Given the description of an element on the screen output the (x, y) to click on. 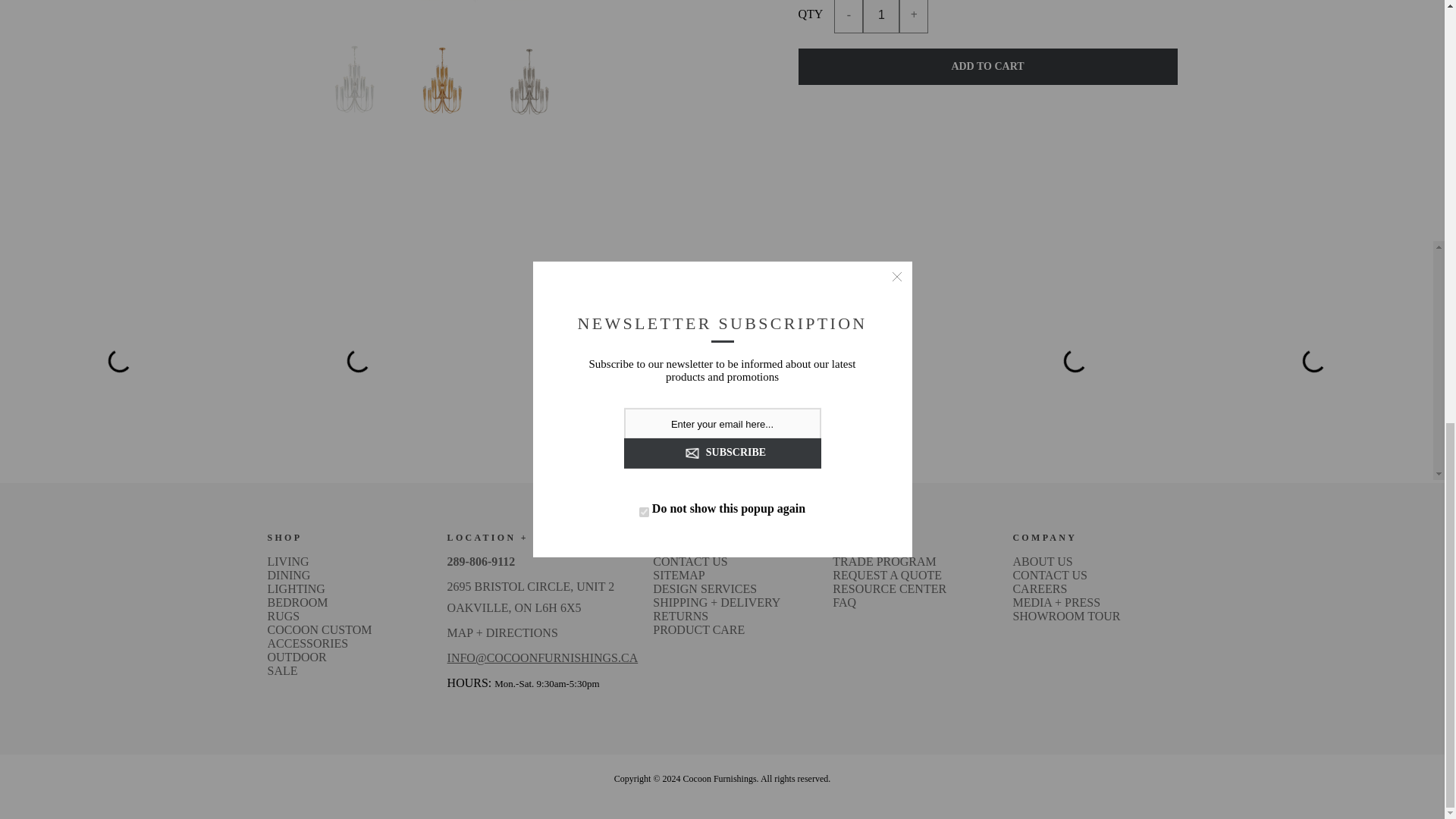
1 (881, 16)
Add to cart (986, 66)
